Given the description of an element on the screen output the (x, y) to click on. 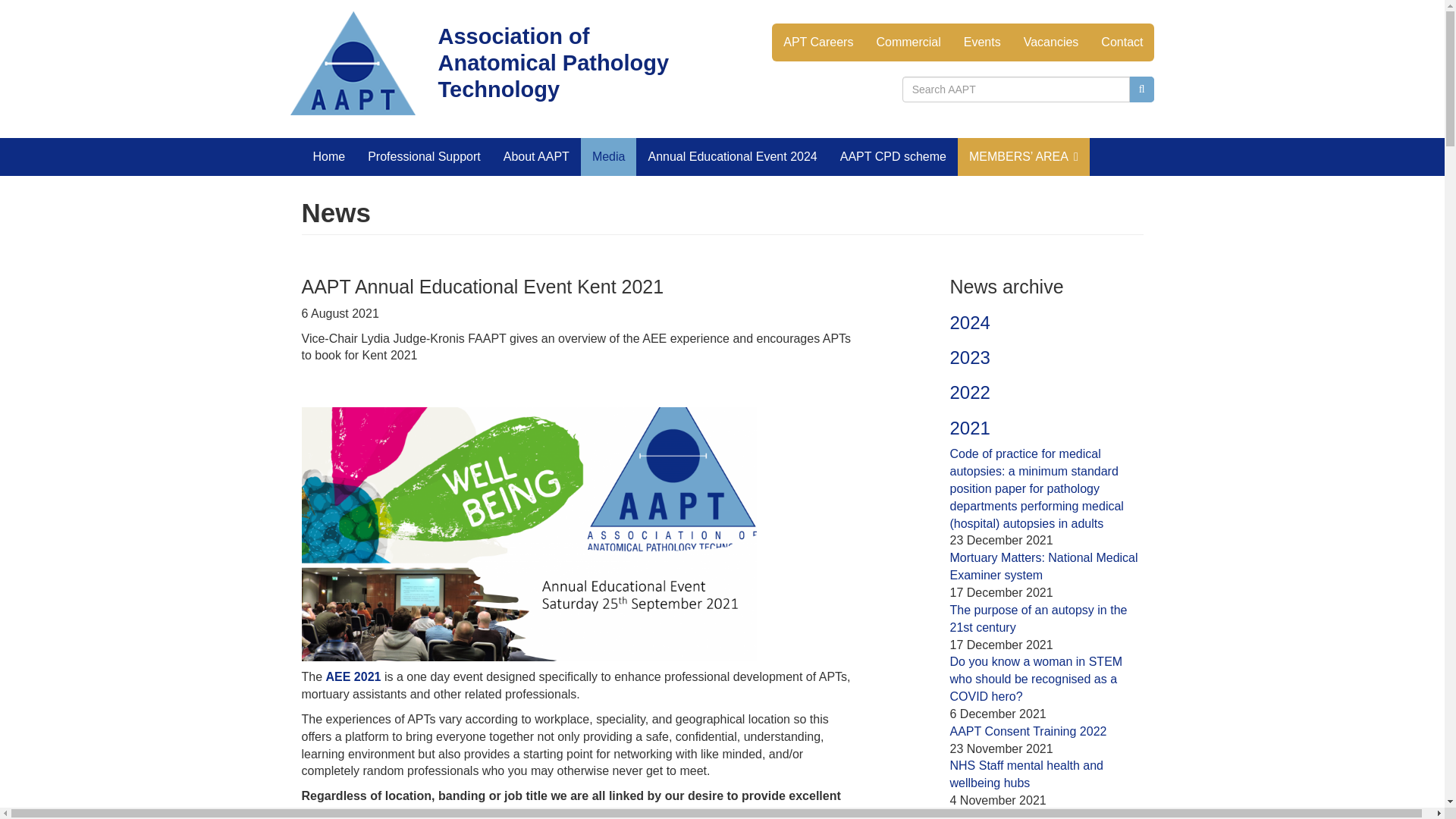
Commercial (908, 42)
Vacancies (1050, 42)
AAPT CPD scheme (893, 157)
Contact (1121, 42)
APT Careers (817, 42)
Media (608, 157)
About AAPT (536, 157)
Events (981, 42)
Annual Educational Event 2024 (732, 157)
Professional Support (424, 157)
Home (328, 157)
